Given the description of an element on the screen output the (x, y) to click on. 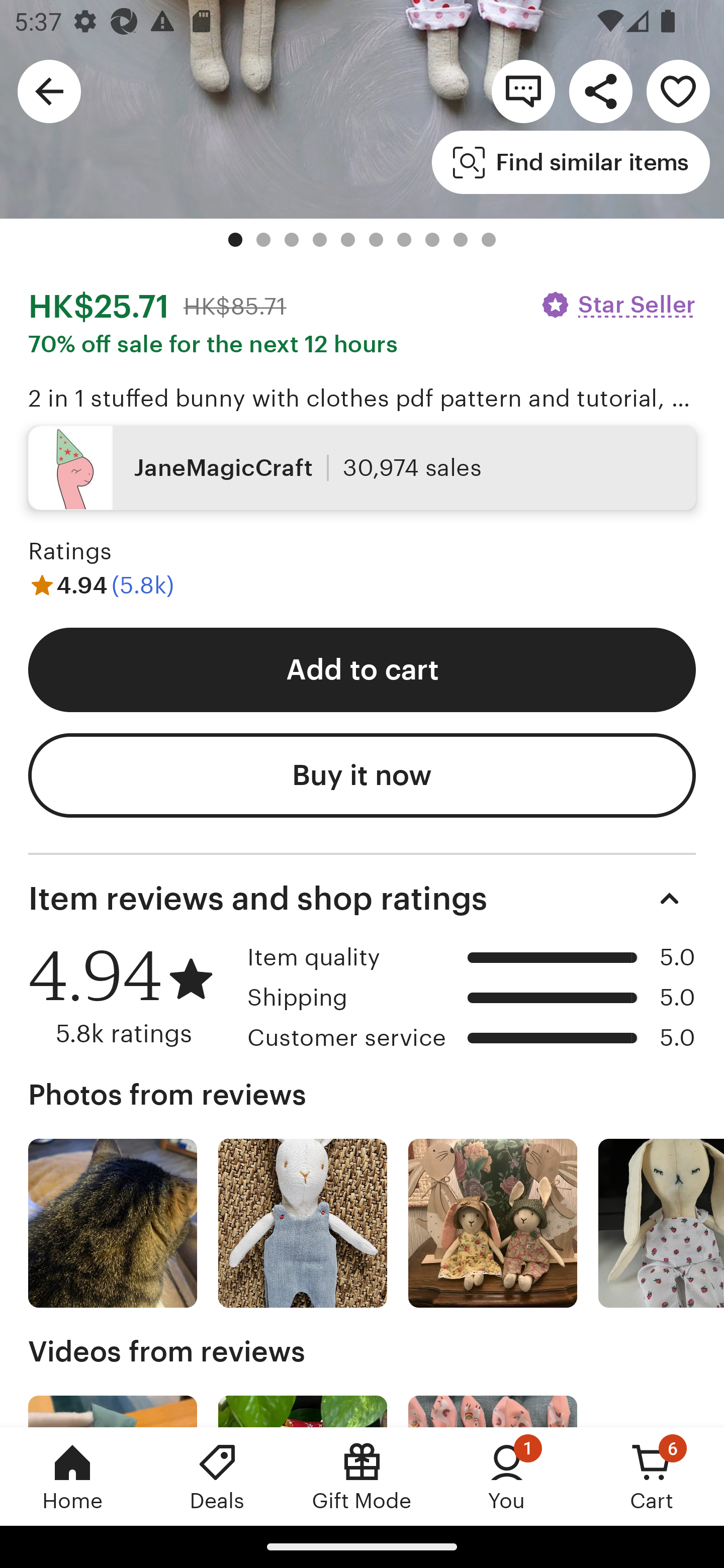
Navigate up (49, 90)
Contact shop (523, 90)
Share (600, 90)
Find similar items (571, 161)
Star Seller (617, 303)
JaneMagicCraft 30,974 sales (361, 466)
Ratings (70, 550)
4.94 (5.8k) (101, 584)
Add to cart (361, 669)
Buy it now (361, 774)
Item reviews and shop ratings (362, 897)
4.94 5.8k ratings (130, 995)
Photo from review (112, 1222)
Photo from review (302, 1222)
Photo from review (492, 1222)
Photo from review (661, 1222)
Deals (216, 1475)
Gift Mode (361, 1475)
You, 1 new notification You (506, 1475)
Cart, 6 new notifications Cart (651, 1475)
